Given the description of an element on the screen output the (x, y) to click on. 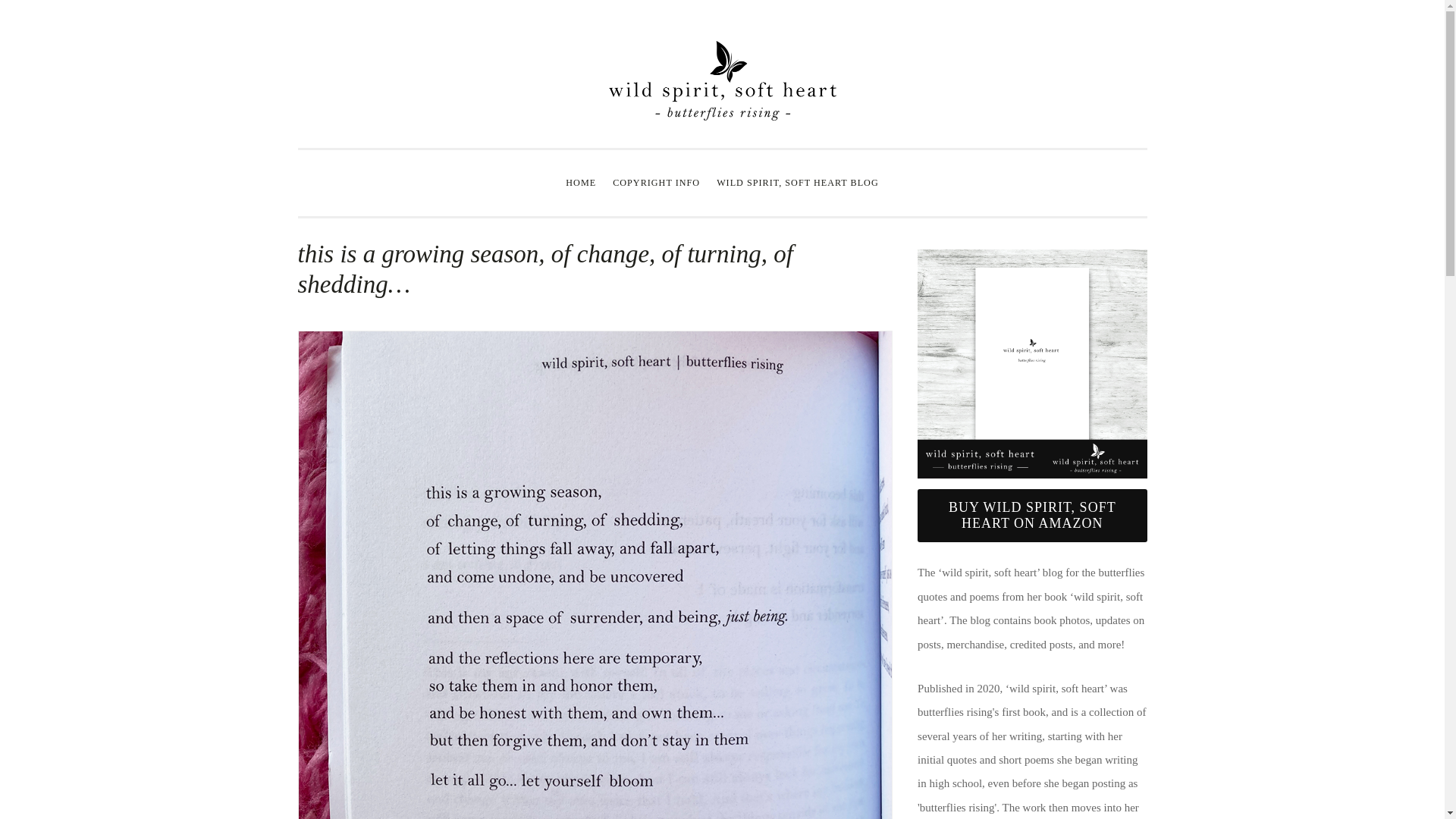
wild spirit, soft heart - butterflies rising (1032, 363)
BUY WILD SPIRIT, SOFT HEART ON AMAZON (1032, 514)
WILD SPIRIT, SOFT HEART BLOG (797, 183)
wild spirit, soft heart (721, 116)
HOME (580, 183)
BUY WILD SPIRIT, SOFT HEART ON AMAZON (1032, 515)
wild spirit, soft heart - butterflies rising (1032, 514)
COPYRIGHT INFO (655, 183)
